Given the description of an element on the screen output the (x, y) to click on. 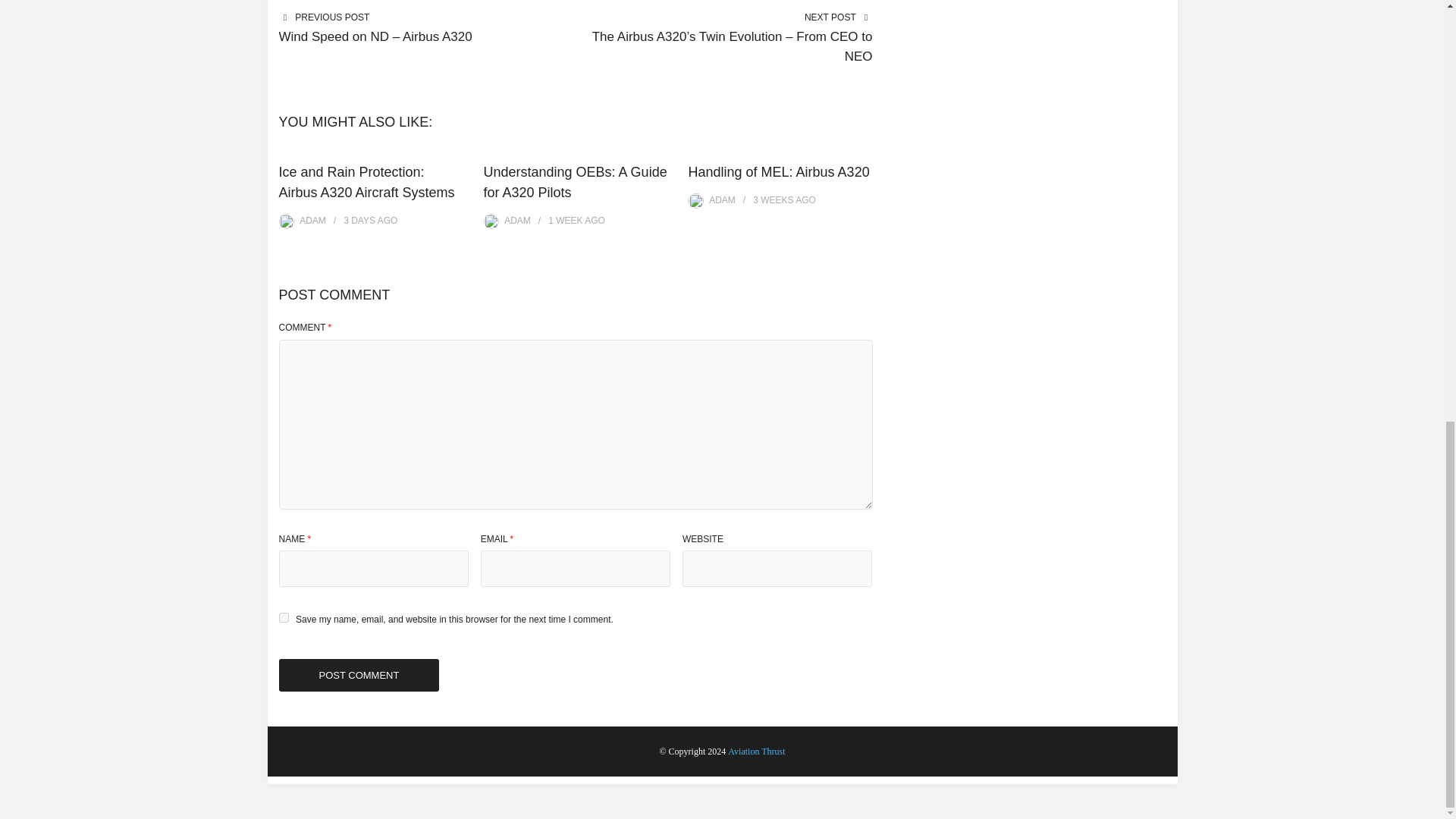
Post Comment (359, 675)
ADAM (312, 220)
ADAM (722, 199)
yes (283, 617)
3 DAYS (359, 220)
Post Comment (359, 675)
Aviation Thrust (756, 751)
Handling of MEL: Airbus A320 (778, 171)
Ice and Rain Protection: Airbus A320 Aircraft Systems (366, 181)
Understanding OEBs: A Guide for A320 Pilots (574, 181)
